Given the description of an element on the screen output the (x, y) to click on. 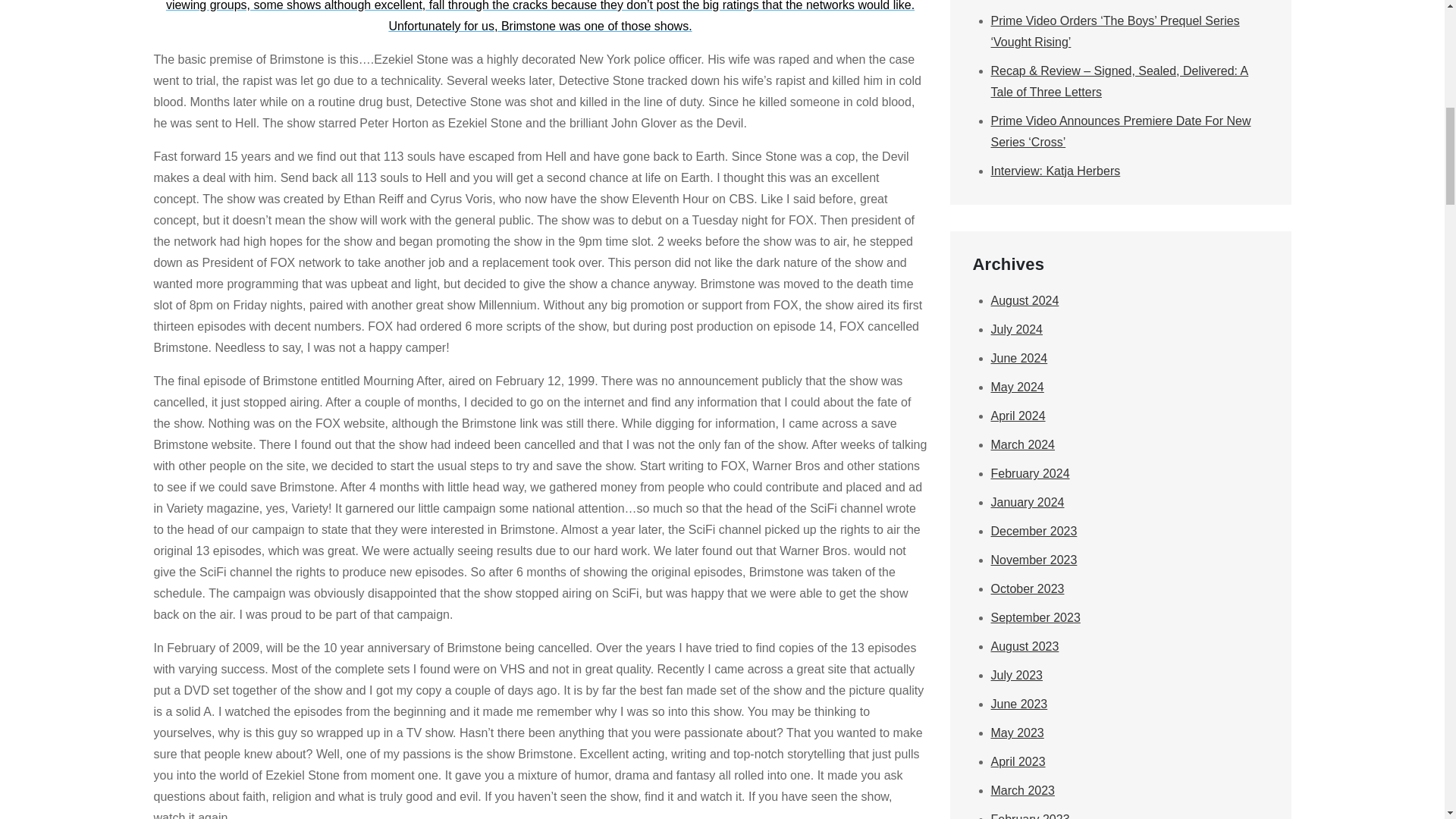
August 2024 (1024, 300)
February 2024 (1029, 472)
July 2024 (1016, 328)
June 2024 (1018, 358)
Interview: Katja Herbers (1054, 170)
April 2024 (1017, 415)
January 2024 (1027, 502)
March 2024 (1022, 444)
May 2024 (1016, 386)
